Given the description of an element on the screen output the (x, y) to click on. 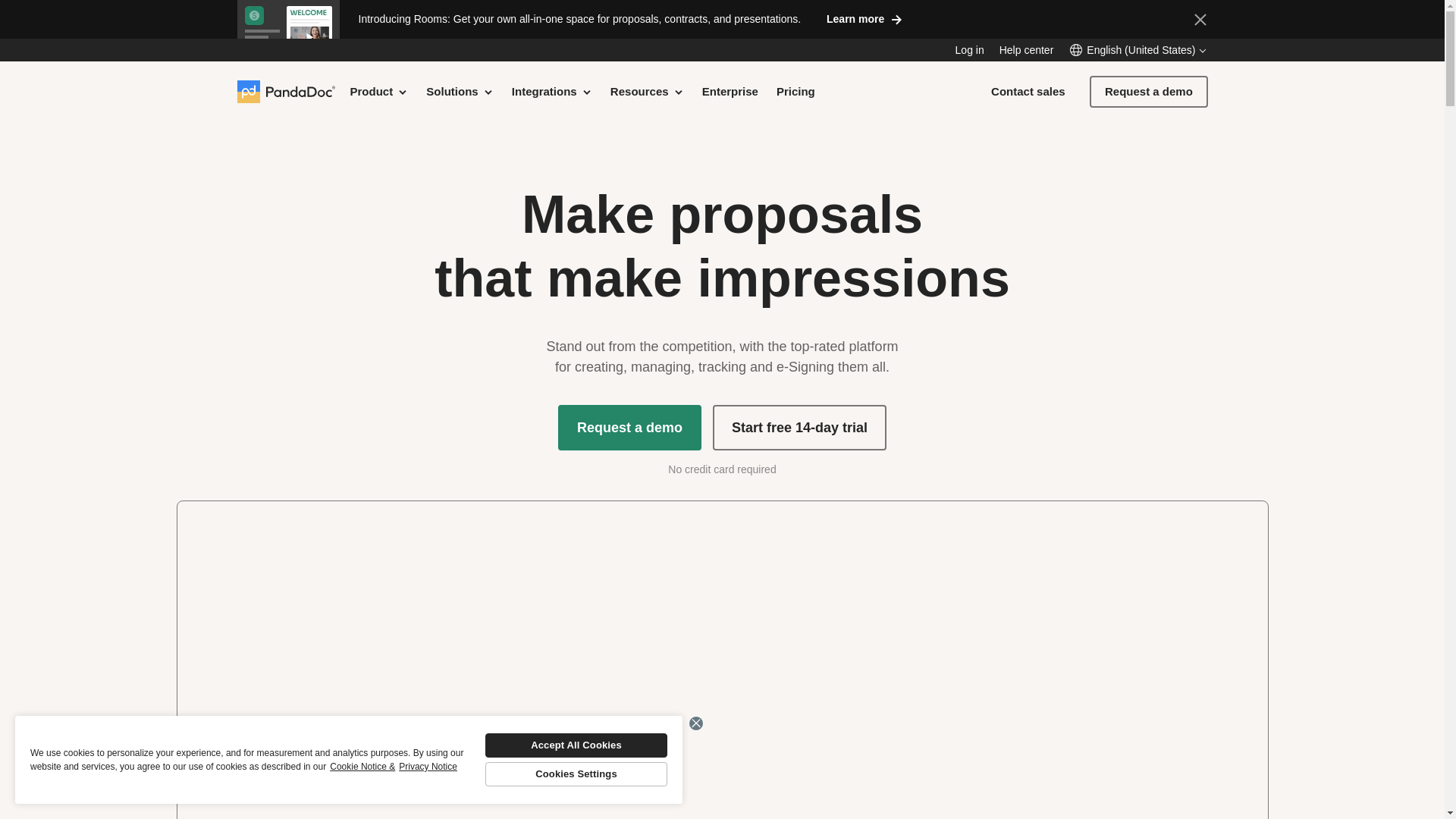
Solutions (459, 91)
Log in (969, 50)
Product (379, 91)
Help center (1026, 50)
Learn more (864, 18)
